Given the description of an element on the screen output the (x, y) to click on. 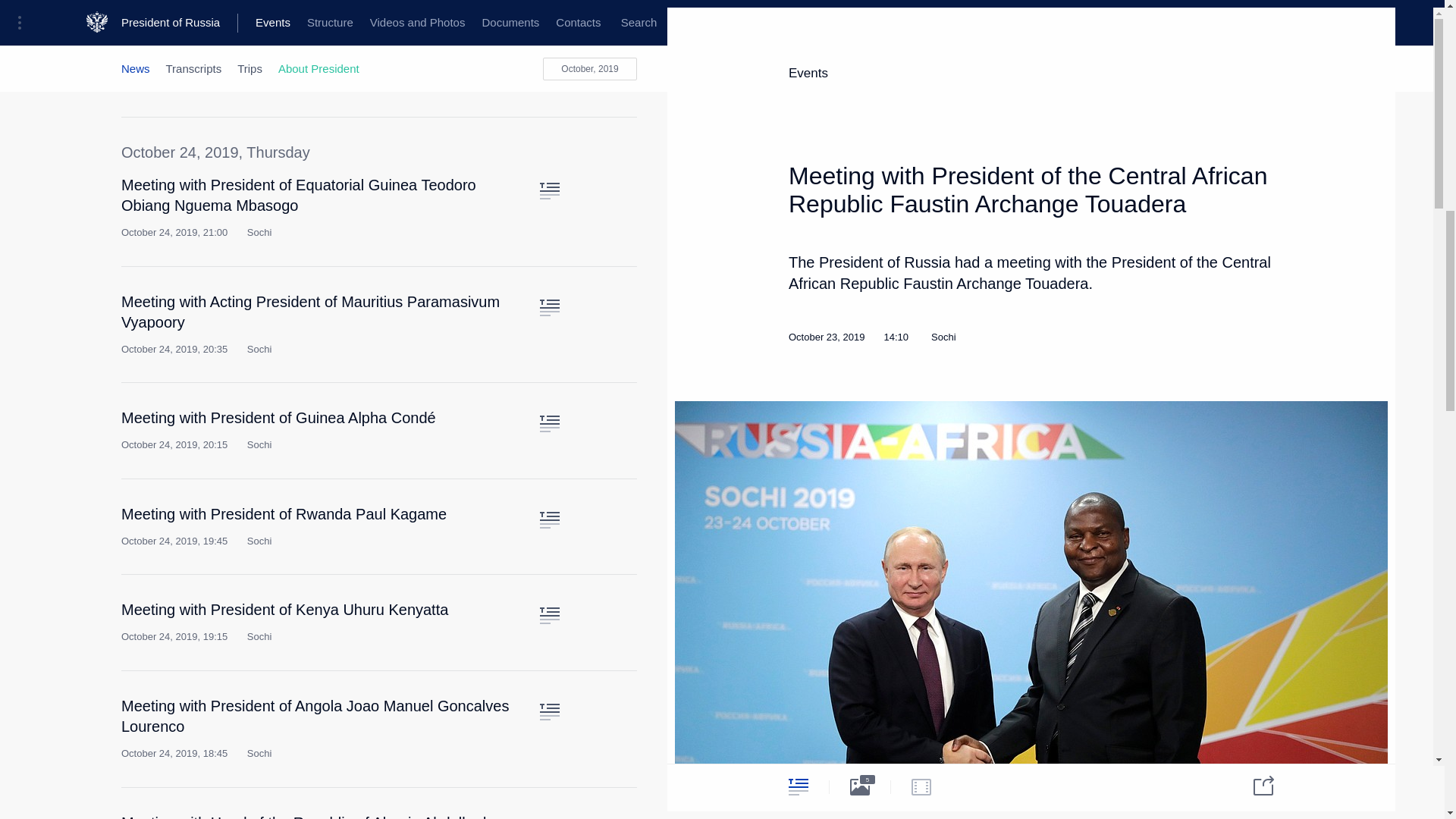
Text of the article (549, 190)
Text of the article (549, 307)
Text of the article (549, 42)
Text of the article (549, 615)
Text of the article (549, 423)
Text of the article (549, 711)
Text of the article (549, 519)
